Given the description of an element on the screen output the (x, y) to click on. 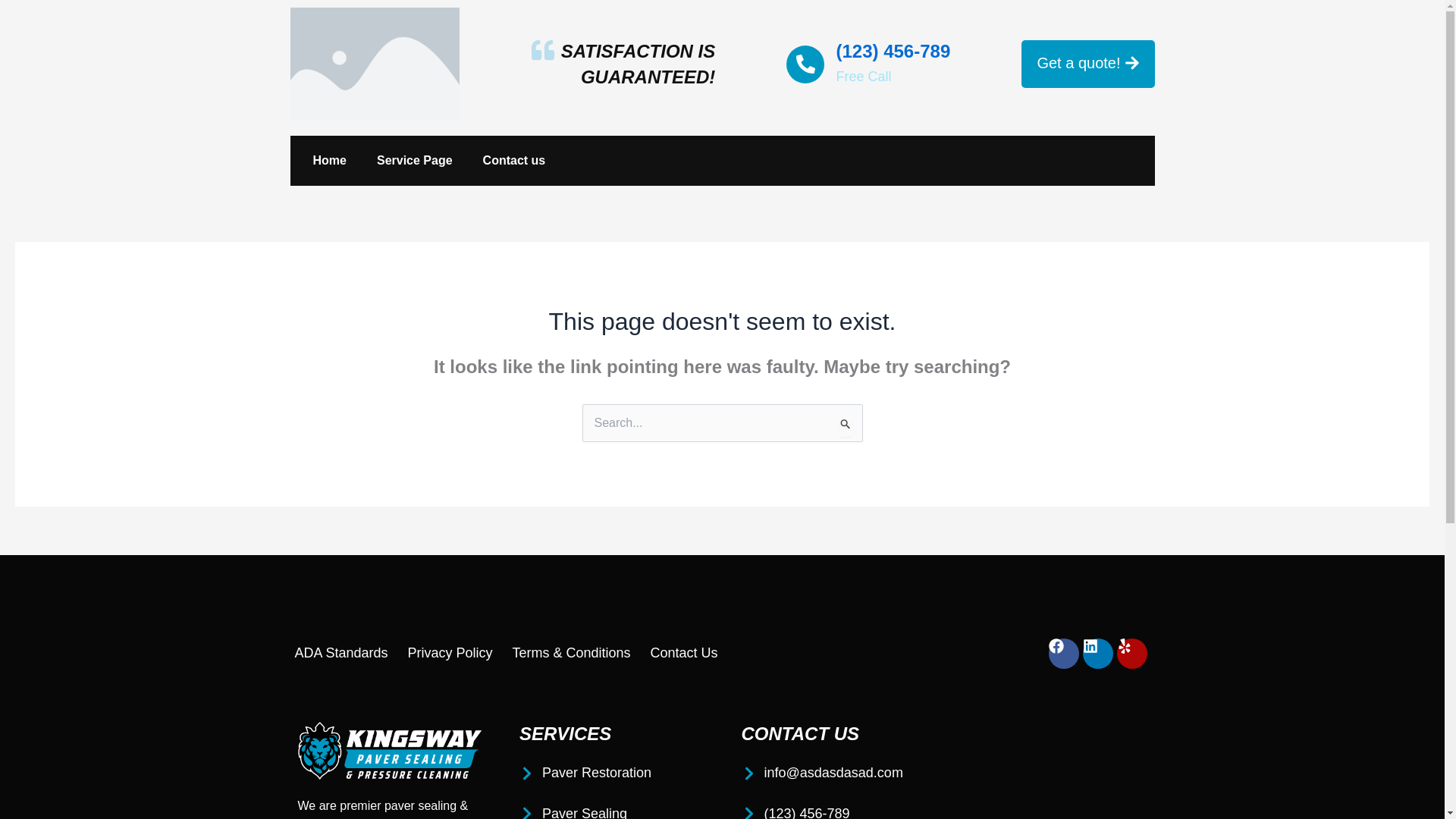
Facebook (1063, 653)
Yelp (1131, 653)
Contact us (513, 160)
London Eye, London, United Kingdom (1054, 770)
Home (329, 160)
Service Page (414, 160)
Linkedin (1098, 653)
Get a quote! (1088, 63)
